Given the description of an element on the screen output the (x, y) to click on. 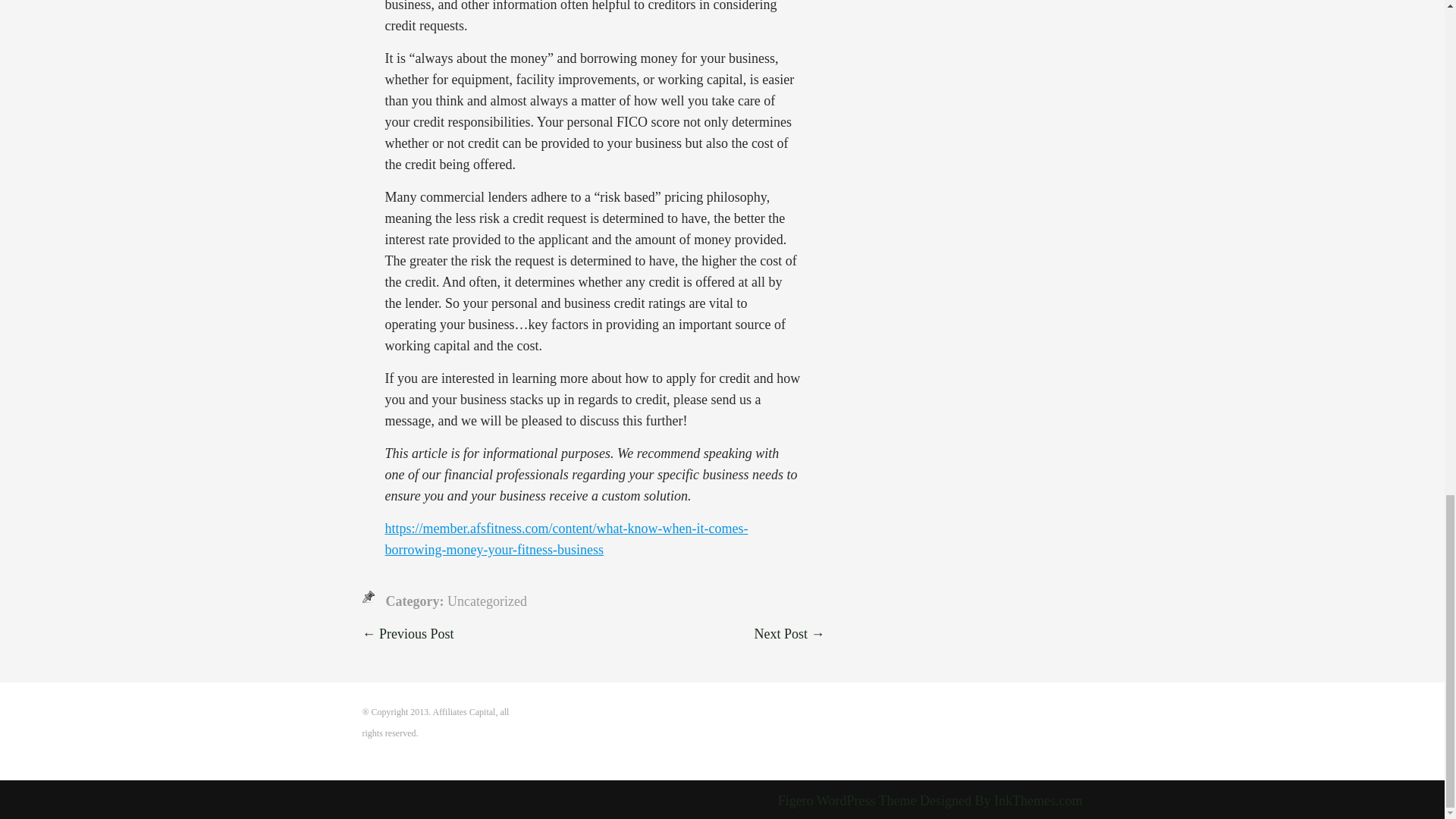
Uncategorized (486, 601)
Figero WordPress Theme Designed By InkThemes.com (930, 800)
